Given the description of an element on the screen output the (x, y) to click on. 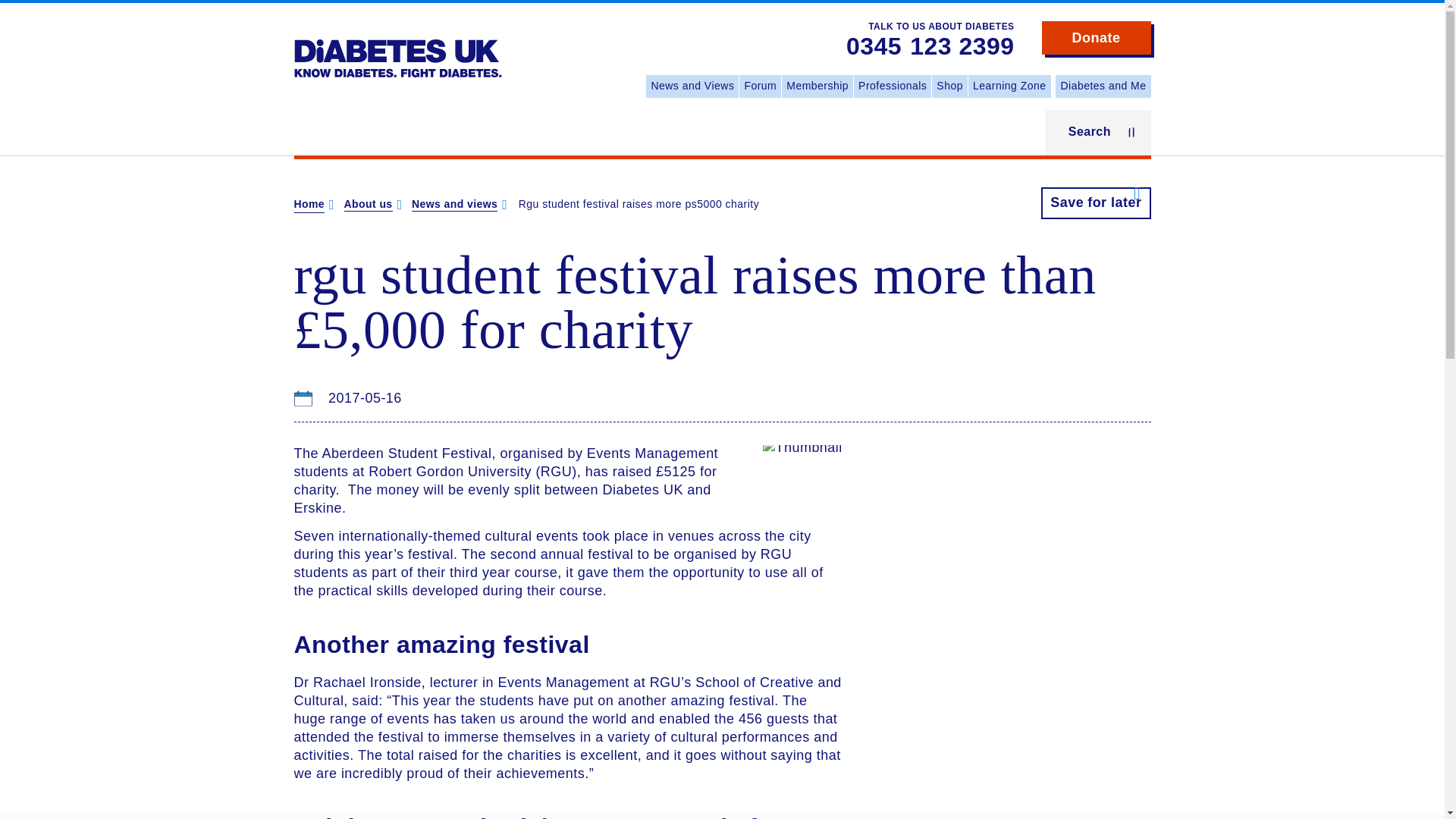
Forum (759, 86)
Donate (1096, 37)
News and Views (692, 86)
Home (398, 47)
0345123 2399 (929, 46)
Learning Zone (1009, 86)
Shop (949, 86)
Diabetes and Me (1102, 86)
Professionals (892, 86)
Studentfestivalcharitypresentationwee.jpg (801, 447)
Membership (817, 86)
